Given the description of an element on the screen output the (x, y) to click on. 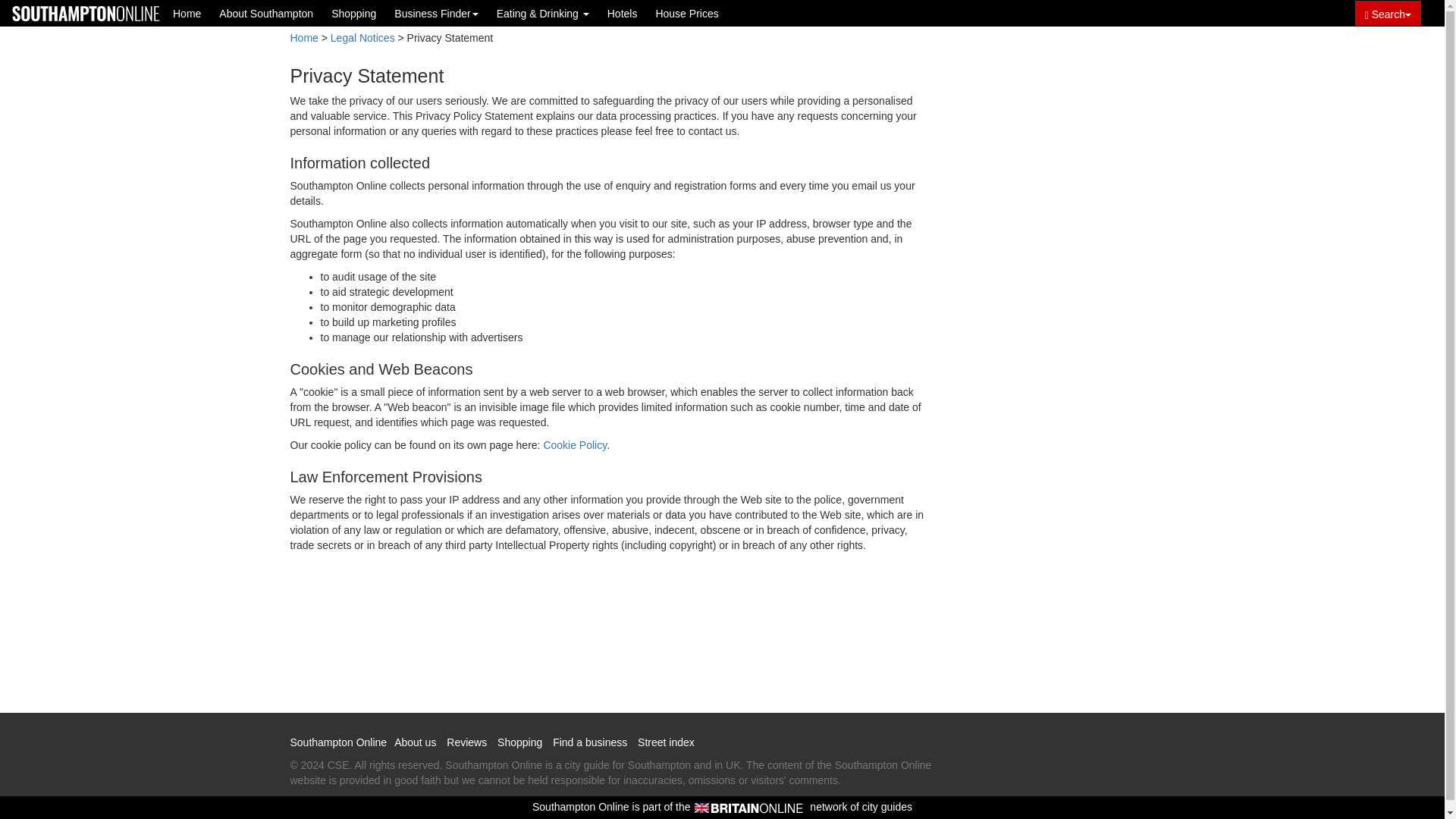
Search (1388, 12)
Hotels (622, 12)
Cookie Policy (575, 444)
Home (303, 37)
Legal Notices (362, 37)
Home (186, 12)
About Southampton (265, 12)
House Prices (686, 12)
Business Finder (435, 12)
Shopping (353, 12)
